Given the description of an element on the screen output the (x, y) to click on. 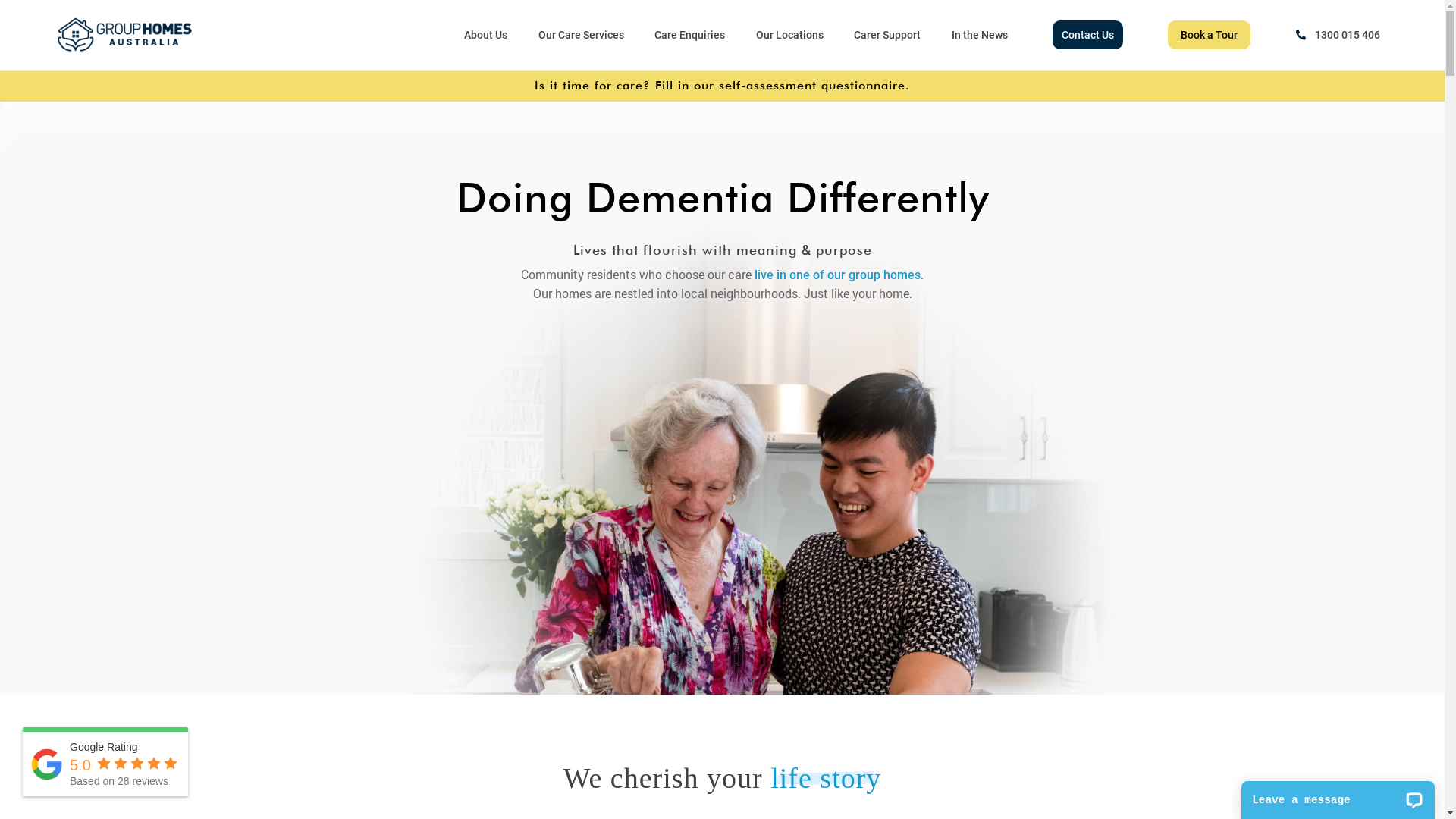
1300 015 406 Element type: text (1337, 34)
Carer Support Element type: text (886, 34)
Book a Tour Element type: text (1208, 34)
Contact Us Element type: text (1087, 34)
About Us Element type: text (485, 34)
Our Care Services Element type: text (581, 34)
live in Element type: text (770, 274)
Care Enquiries Element type: text (689, 34)
In the News Element type: text (979, 34)
Our Locations Element type: text (789, 34)
one of our group homes Element type: text (854, 274)
